Given the description of an element on the screen output the (x, y) to click on. 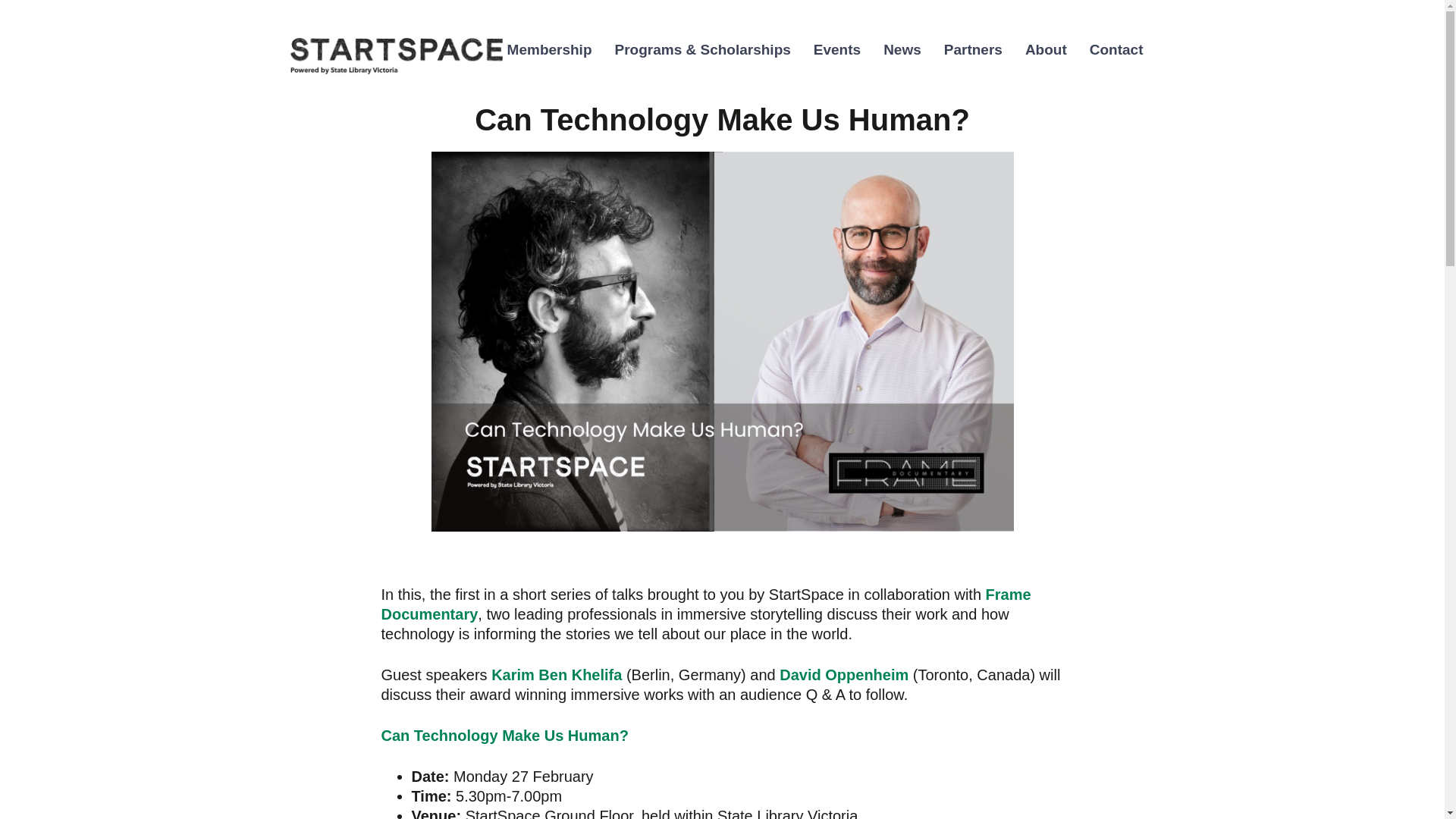
Partners (973, 49)
About (1045, 49)
Contact (1116, 49)
Events (837, 49)
News (902, 49)
Can Technology Make Us Human? (503, 735)
Frame Documentary (705, 604)
David Oppenheim (843, 674)
Membership (550, 49)
Karim Ben Khelifa (556, 674)
